Given the description of an element on the screen output the (x, y) to click on. 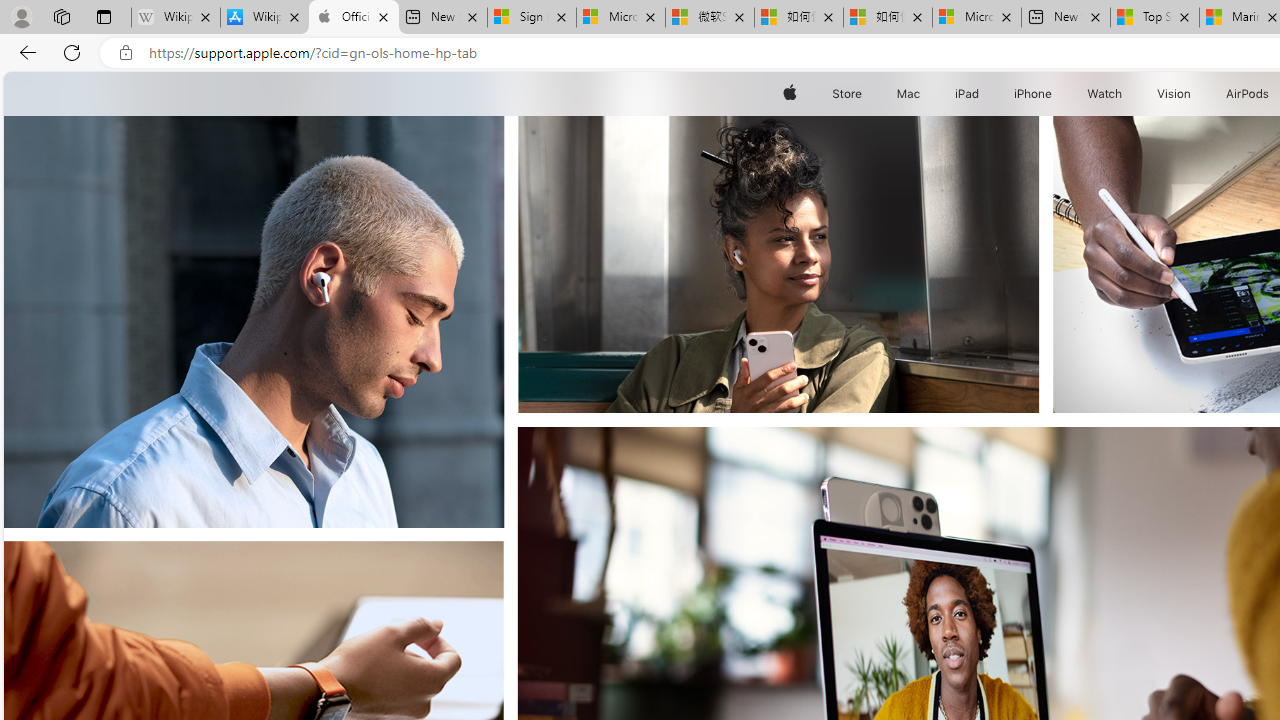
Vision (1174, 93)
iPad menu (982, 93)
iPhone (1033, 93)
Mac menu (922, 93)
Mac (908, 93)
Microsoft account | Account Checkup (977, 17)
